Given the description of an element on the screen output the (x, y) to click on. 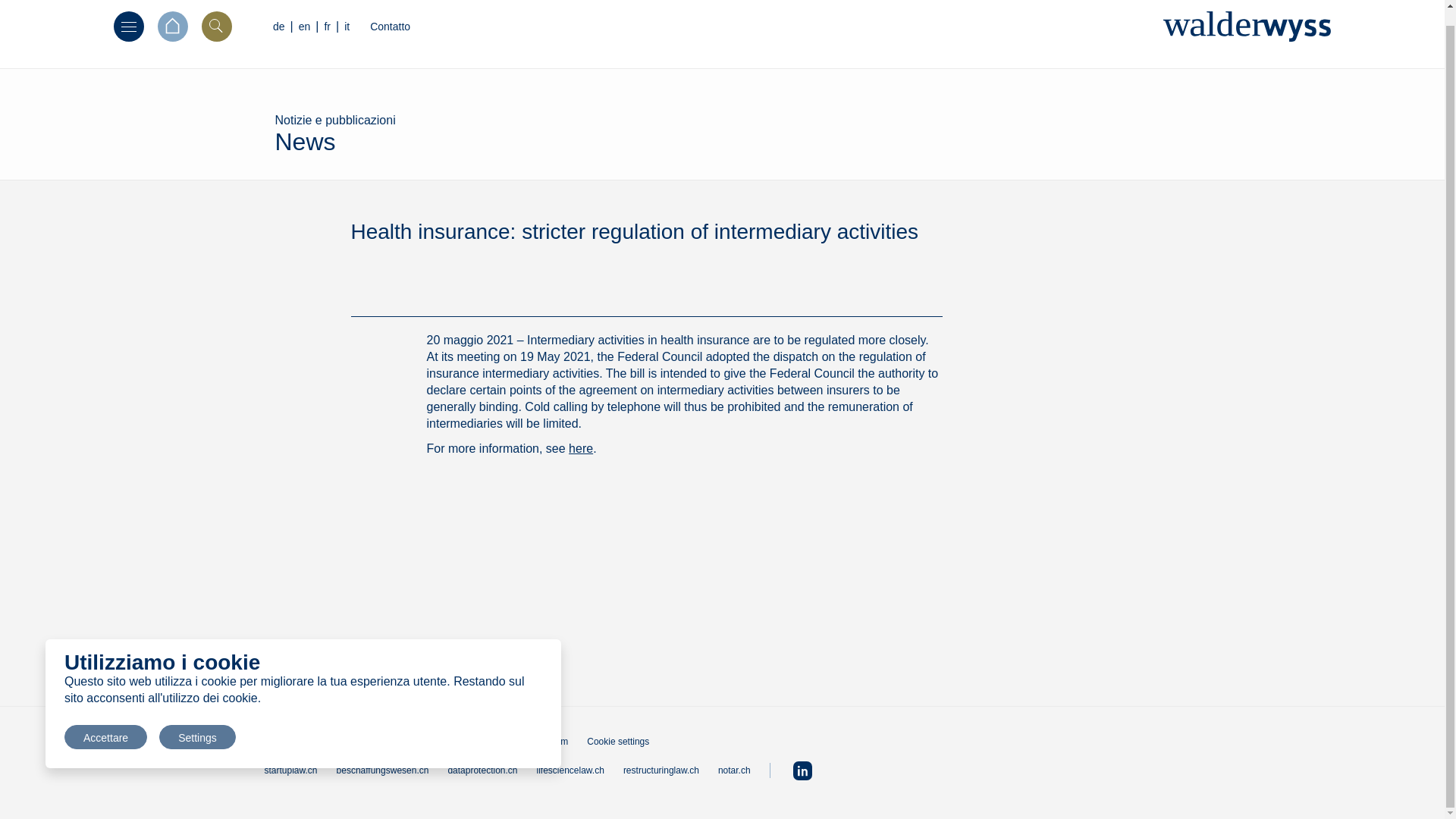
beschaffungswesen.ch (382, 769)
Contatto (389, 26)
here (580, 448)
restructuringlaw.ch (660, 769)
Impressum (544, 741)
startuplaw.ch (290, 769)
notar.ch (734, 769)
Note legali (388, 741)
lifesciencelaw.ch (569, 769)
Accettare (105, 721)
